Given the description of an element on the screen output the (x, y) to click on. 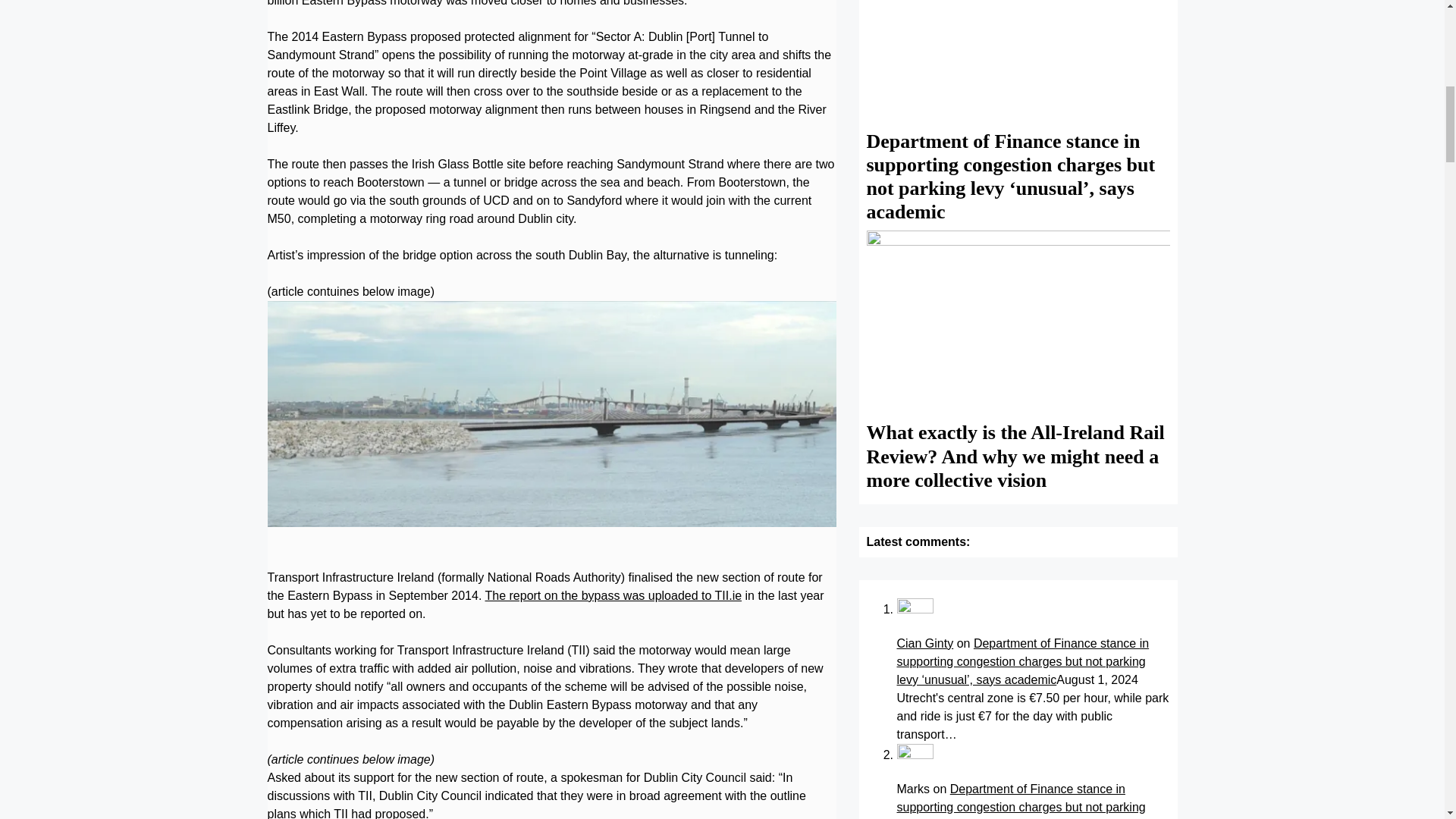
The report on the bypass was uploaded to TII.ie (613, 349)
